Given the description of an element on the screen output the (x, y) to click on. 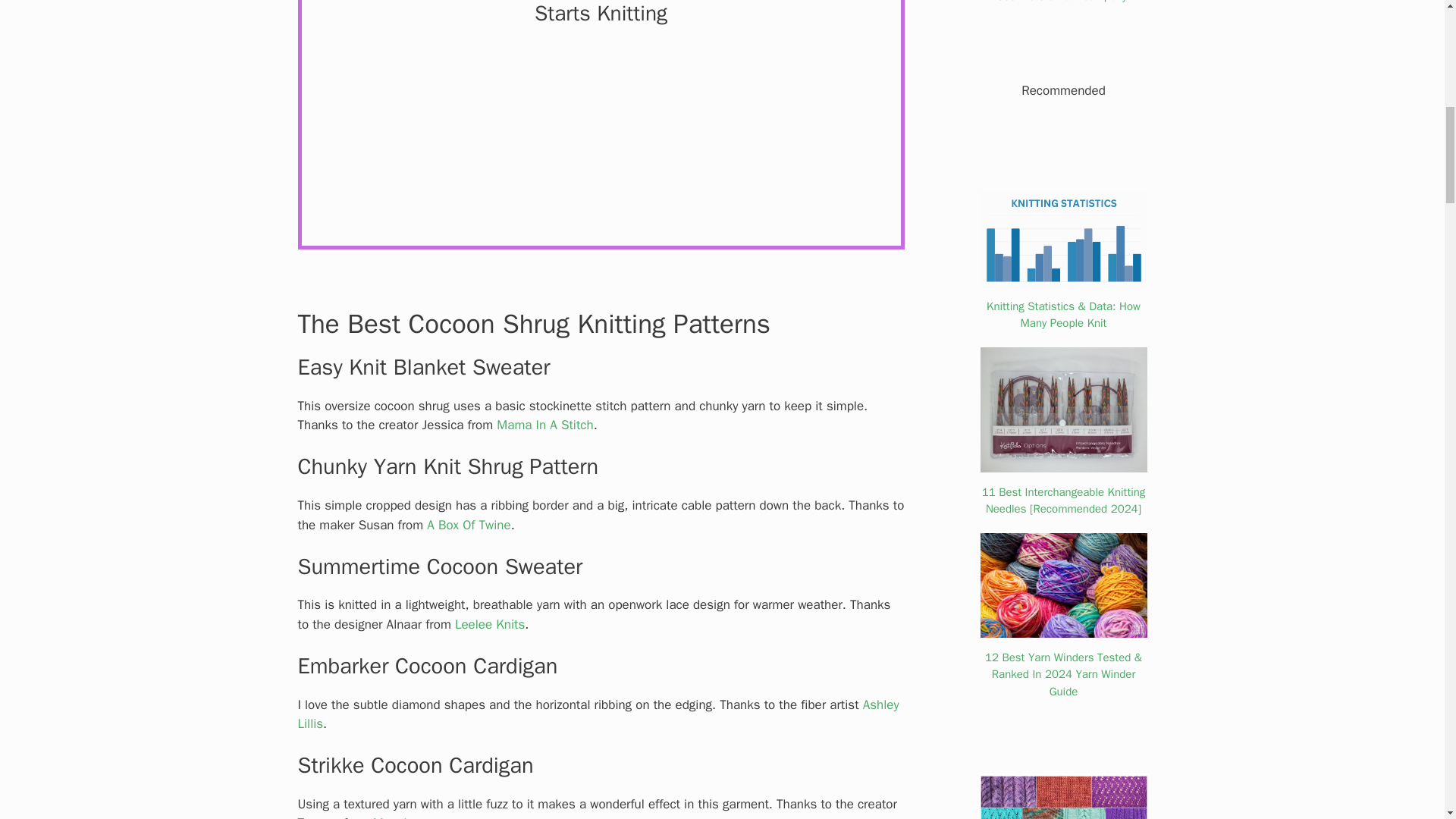
Leelee Knits (489, 624)
A Box Of Twine (468, 524)
Mama In A Stitch (544, 424)
Ashley Lillis (597, 714)
